Given the description of an element on the screen output the (x, y) to click on. 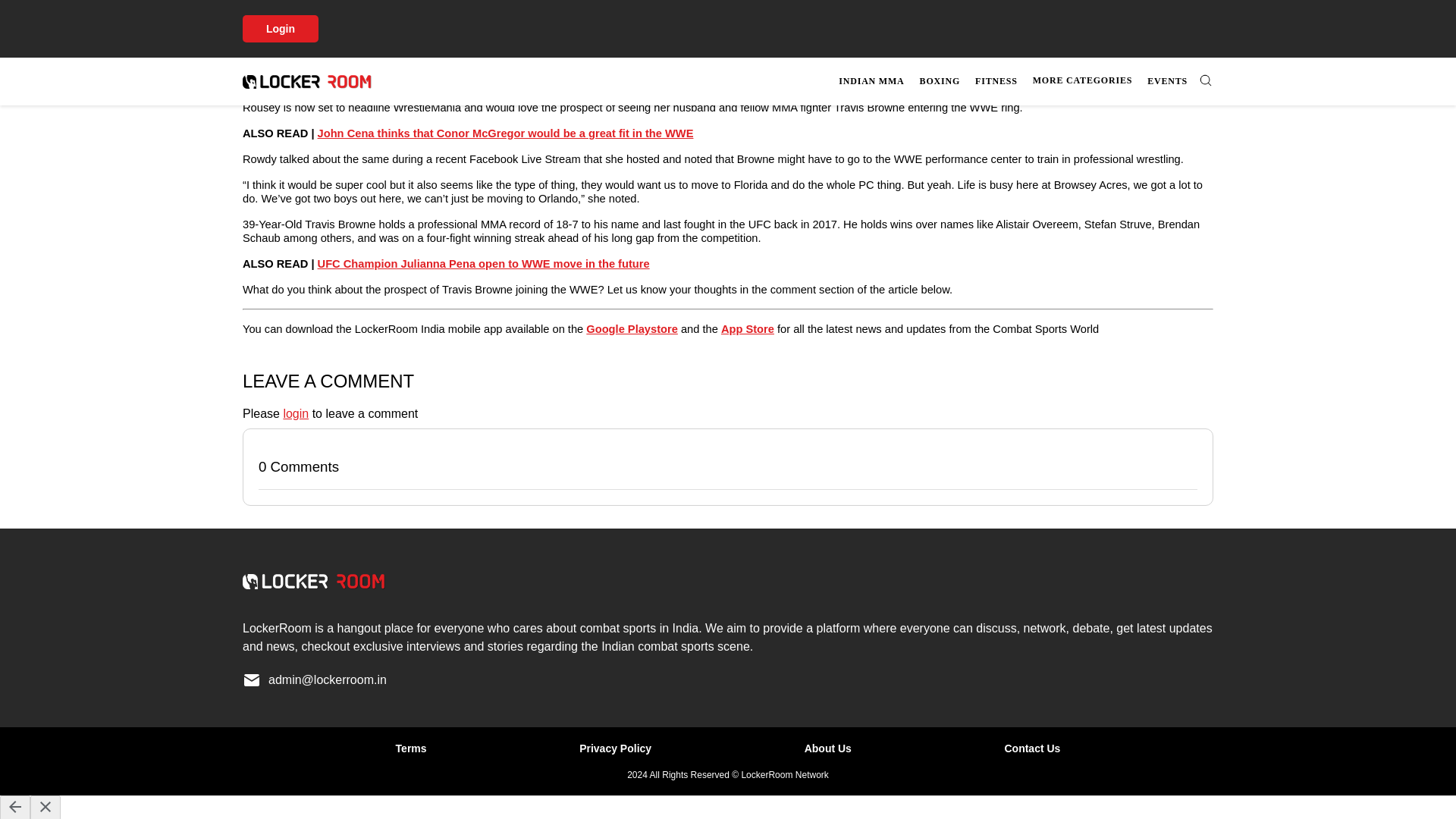
Google Playstore (632, 328)
UFC Champion Julianna Pena open to WWE move in the future (483, 263)
App Store (747, 328)
